Given the description of an element on the screen output the (x, y) to click on. 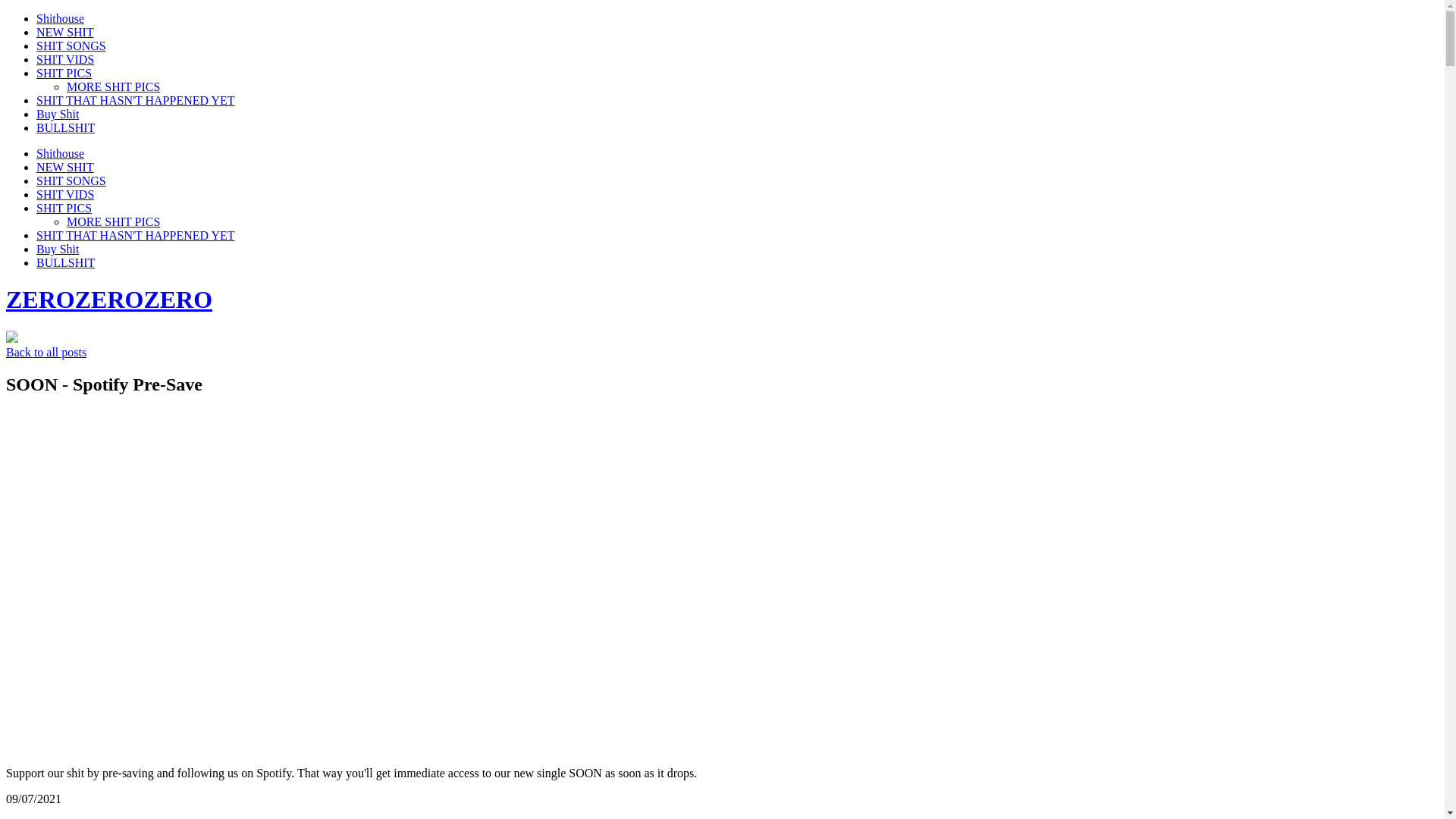
NEW SHIT Element type: text (65, 166)
Shithouse Element type: text (60, 18)
SHIT VIDS Element type: text (65, 59)
Buy Shit Element type: text (57, 248)
MORE SHIT PICS Element type: text (113, 221)
SHIT PICS Element type: text (63, 72)
MORE SHIT PICS Element type: text (113, 86)
SHIT SONGS Element type: text (71, 180)
SHIT THAT HASN'T HAPPENED YET Element type: text (135, 100)
Back to all posts Element type: text (46, 351)
ZEROZEROZERO Element type: text (109, 299)
SHIT THAT HASN'T HAPPENED YET Element type: text (135, 235)
BULLSHIT Element type: text (65, 262)
NEW SHIT Element type: text (65, 31)
Buy Shit Element type: text (57, 113)
Shithouse Element type: text (60, 153)
SHIT PICS Element type: text (63, 207)
BULLSHIT Element type: text (65, 127)
SHIT VIDS Element type: text (65, 194)
SHIT SONGS Element type: text (71, 45)
